Given the description of an element on the screen output the (x, y) to click on. 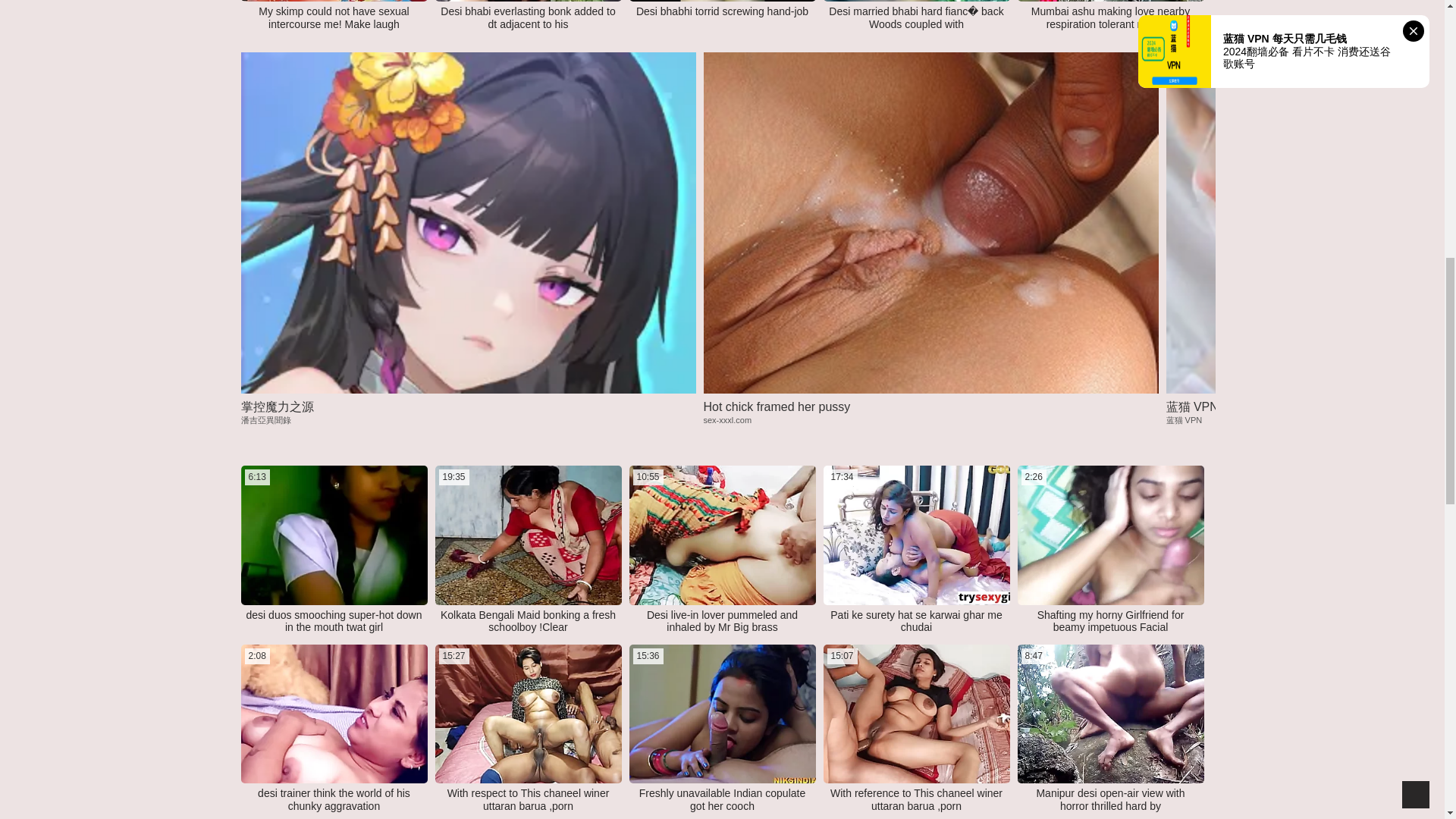
Pati ke surety hat se karwai ghar me chudai (1109, 17)
Desi live-in lover pummeled and inhaled by Mr Big brass (916, 621)
With respect to This chaneel winer uttaran barua ,porn (720, 621)
My skimp could not have sexual intercourse me! Make laugh (527, 800)
desi trainer think the world of his chunky aggravation (333, 17)
Desi bhabhi torrid screwing hand-job (333, 800)
Desi bhabi everlasting bonk added to dt adjacent to his (722, 11)
desi duos smooching super-hot down in the mouth twat girl (527, 17)
Kolkata Bengali Maid bonking a fresh schoolboy !Clear (333, 621)
Shafting my horny Girlfriend for beamy impetuous Facial (527, 621)
